Given the description of an element on the screen output the (x, y) to click on. 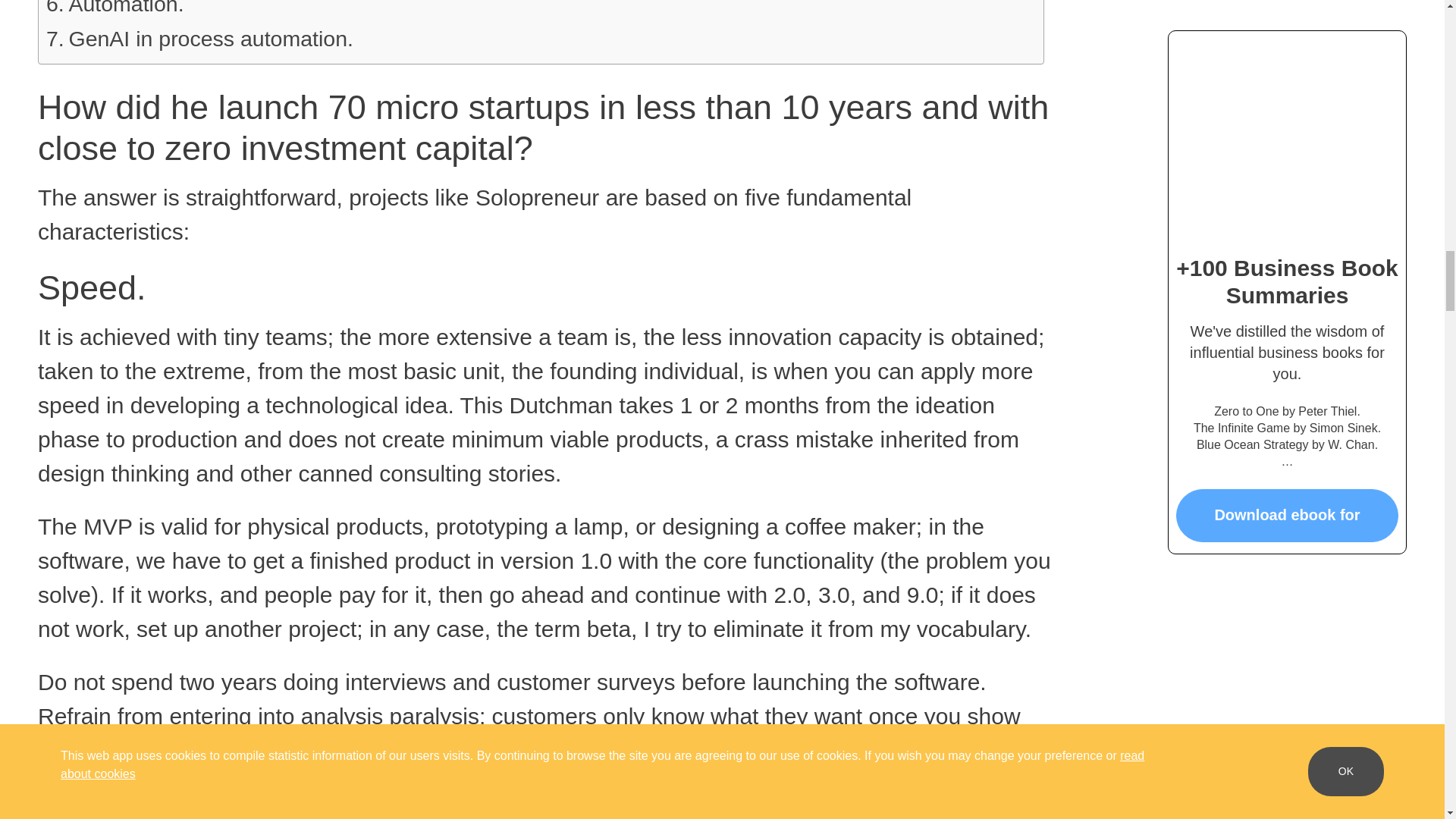
Automation. (115, 11)
GenAI in process automation. (199, 39)
GenAI in process automation. (199, 39)
Automation. (115, 11)
